Given the description of an element on the screen output the (x, y) to click on. 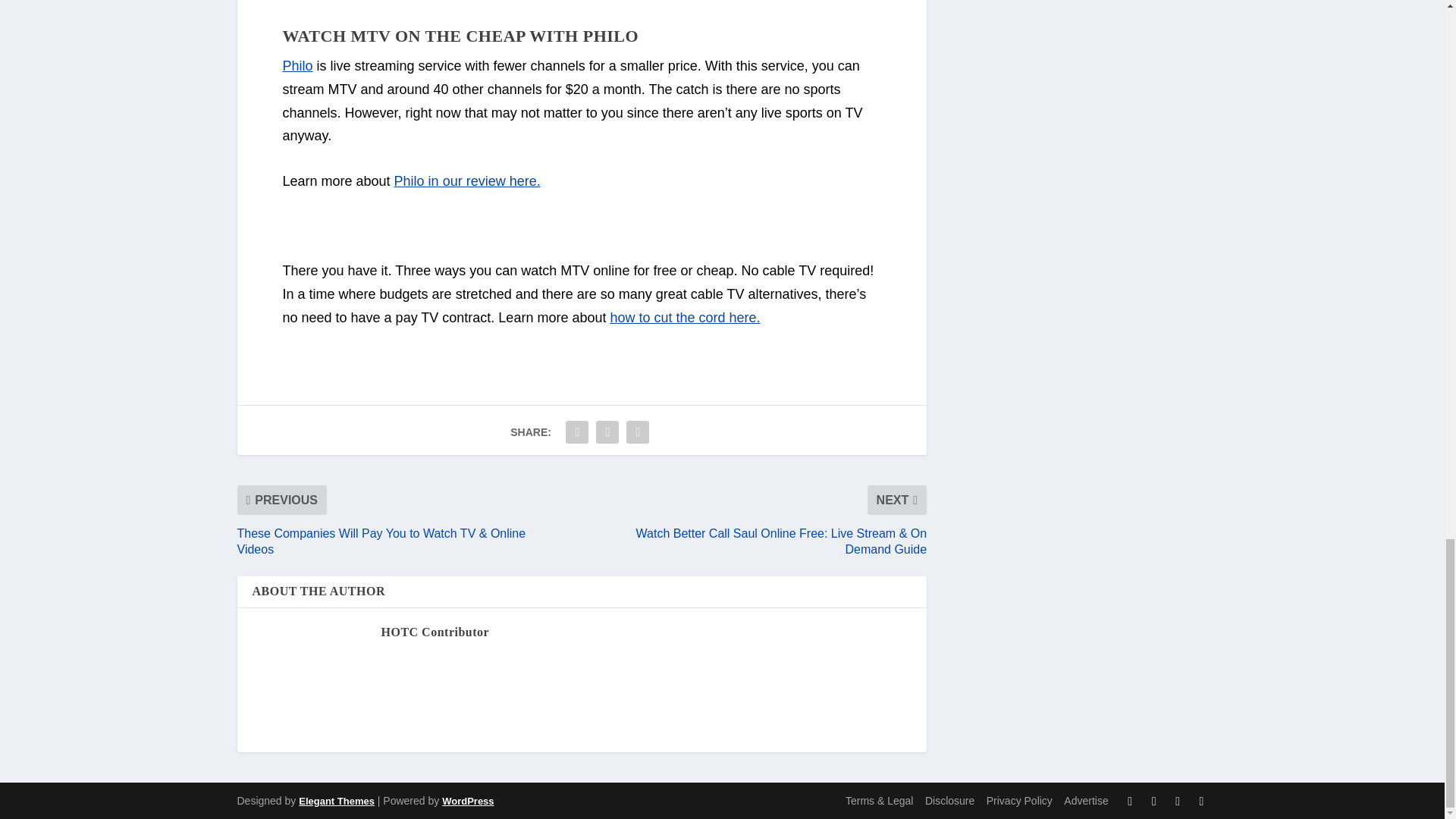
View all posts by HOTC Contributor (434, 631)
Premium WordPress Themes (336, 800)
